Given the description of an element on the screen output the (x, y) to click on. 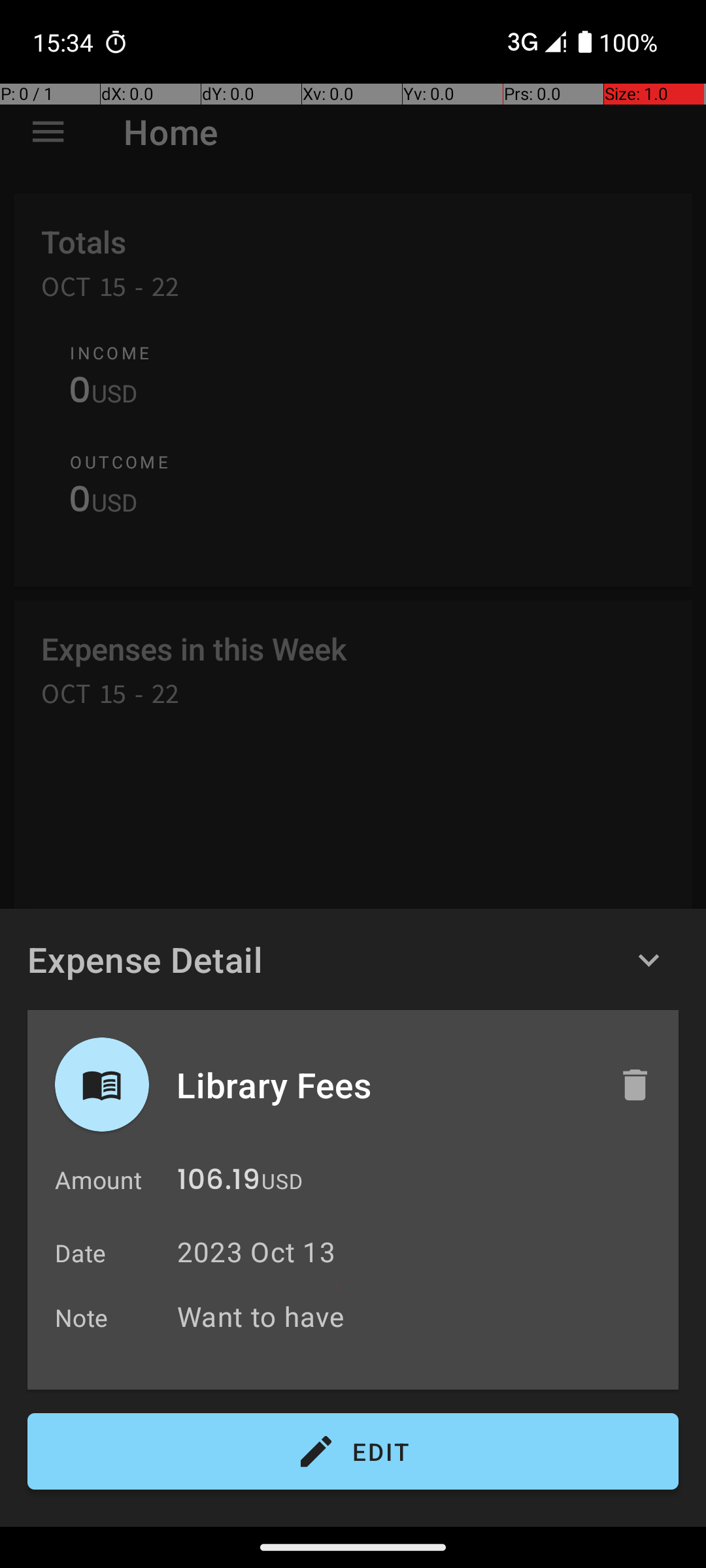
106.19 Element type: android.widget.TextView (218, 1182)
